Given the description of an element on the screen output the (x, y) to click on. 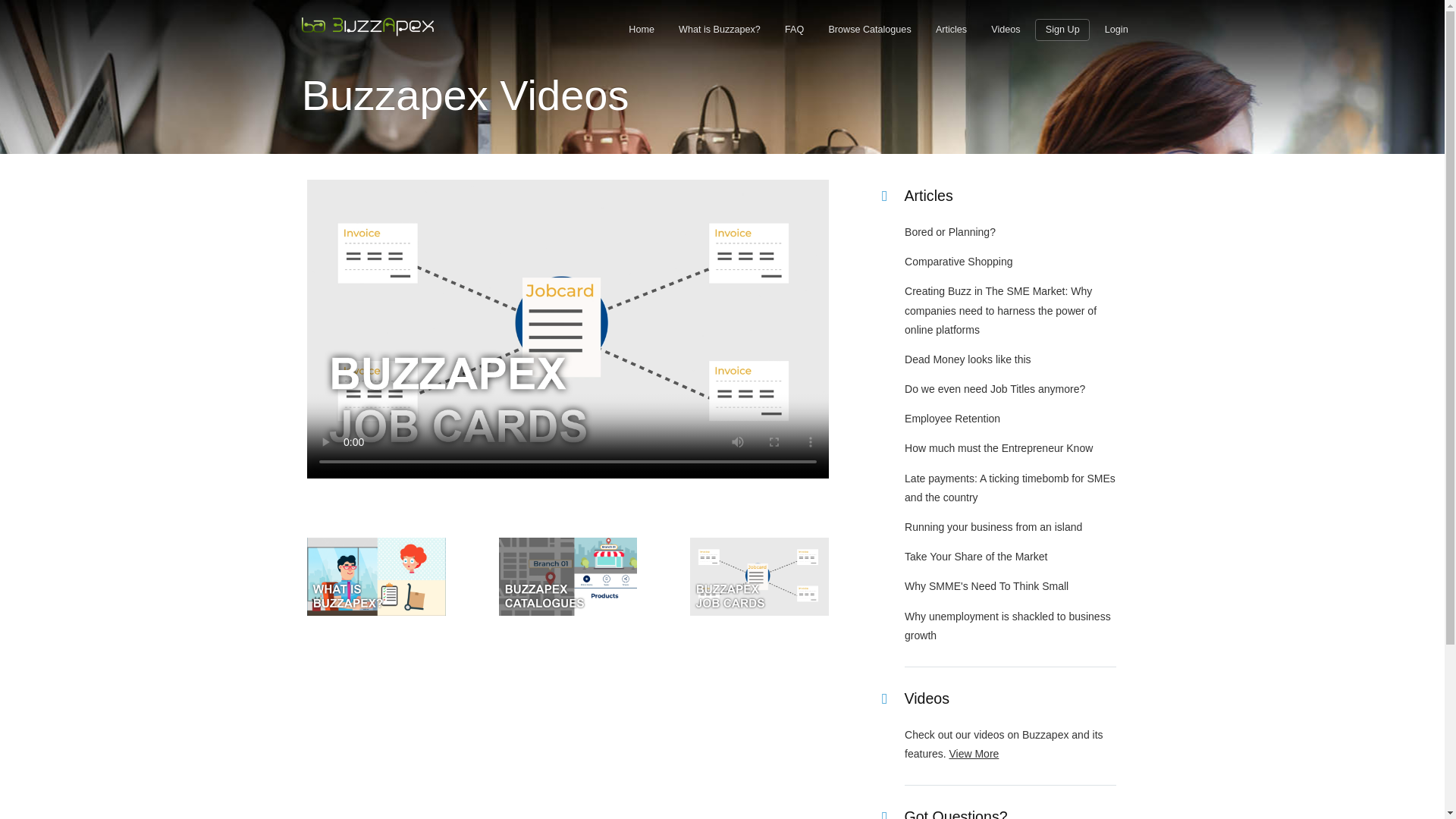
What is Buzzapex (376, 612)
Login (1115, 29)
Why SMME's Need To Think Small (986, 585)
FAQ (793, 29)
Comparative Shopping (957, 261)
Videos on Buzzapex (973, 753)
Running your business from an island (992, 526)
Dead Money looks like this (967, 358)
Late payments: A ticking timebomb for SMEs and the country (1009, 487)
Do we even need Job Titles anymore? (994, 388)
Articles (950, 29)
Buzzapex Jobcards (759, 612)
Check out our videos on Buzzapex and its features. (1003, 744)
What is Buzzapex? (719, 29)
